Given the description of an element on the screen output the (x, y) to click on. 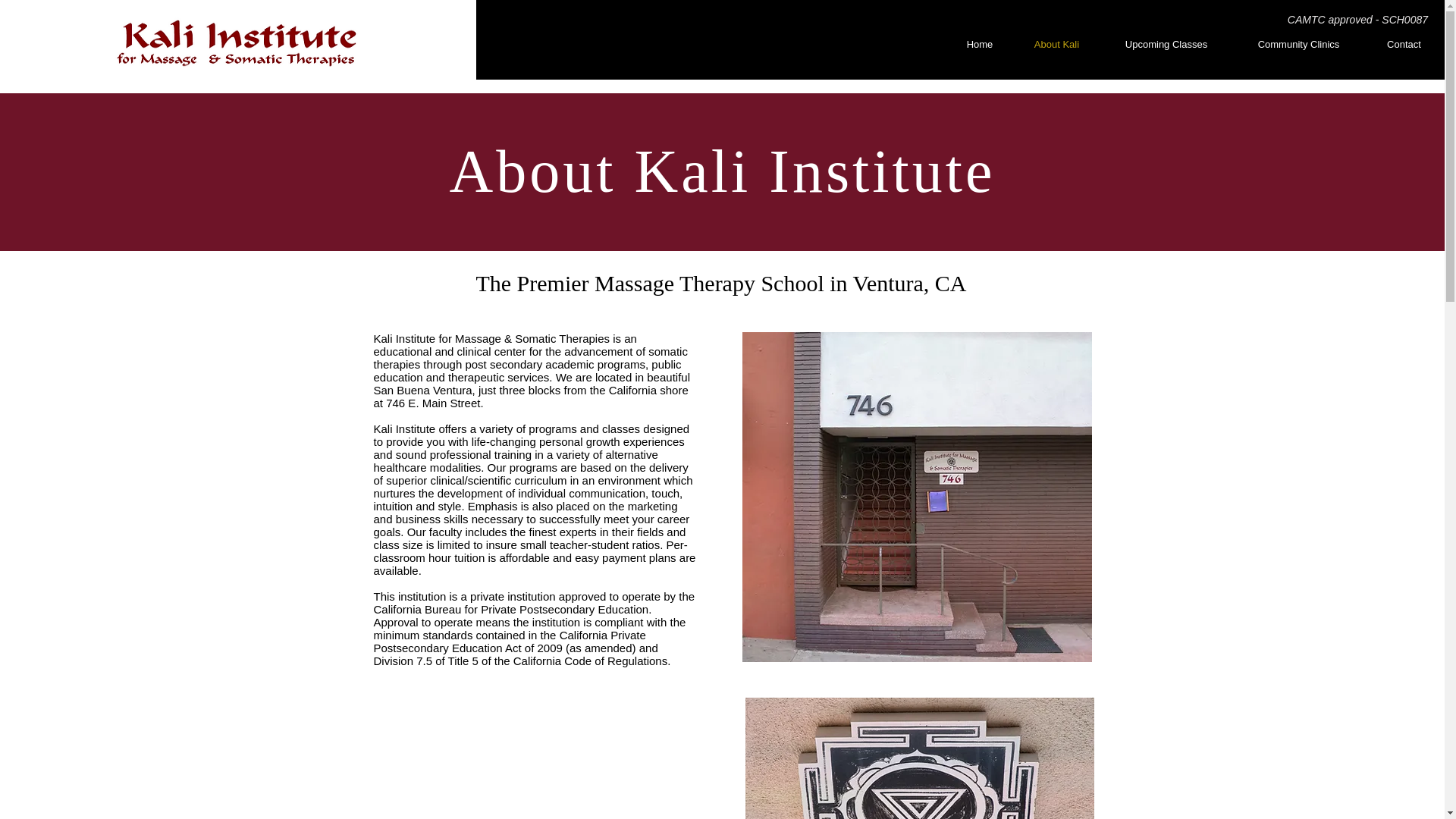
Upcoming Classes (1165, 44)
Community Clinics (1298, 44)
Contact (1403, 44)
About Kali (1056, 44)
Home (979, 44)
